Given the description of an element on the screen output the (x, y) to click on. 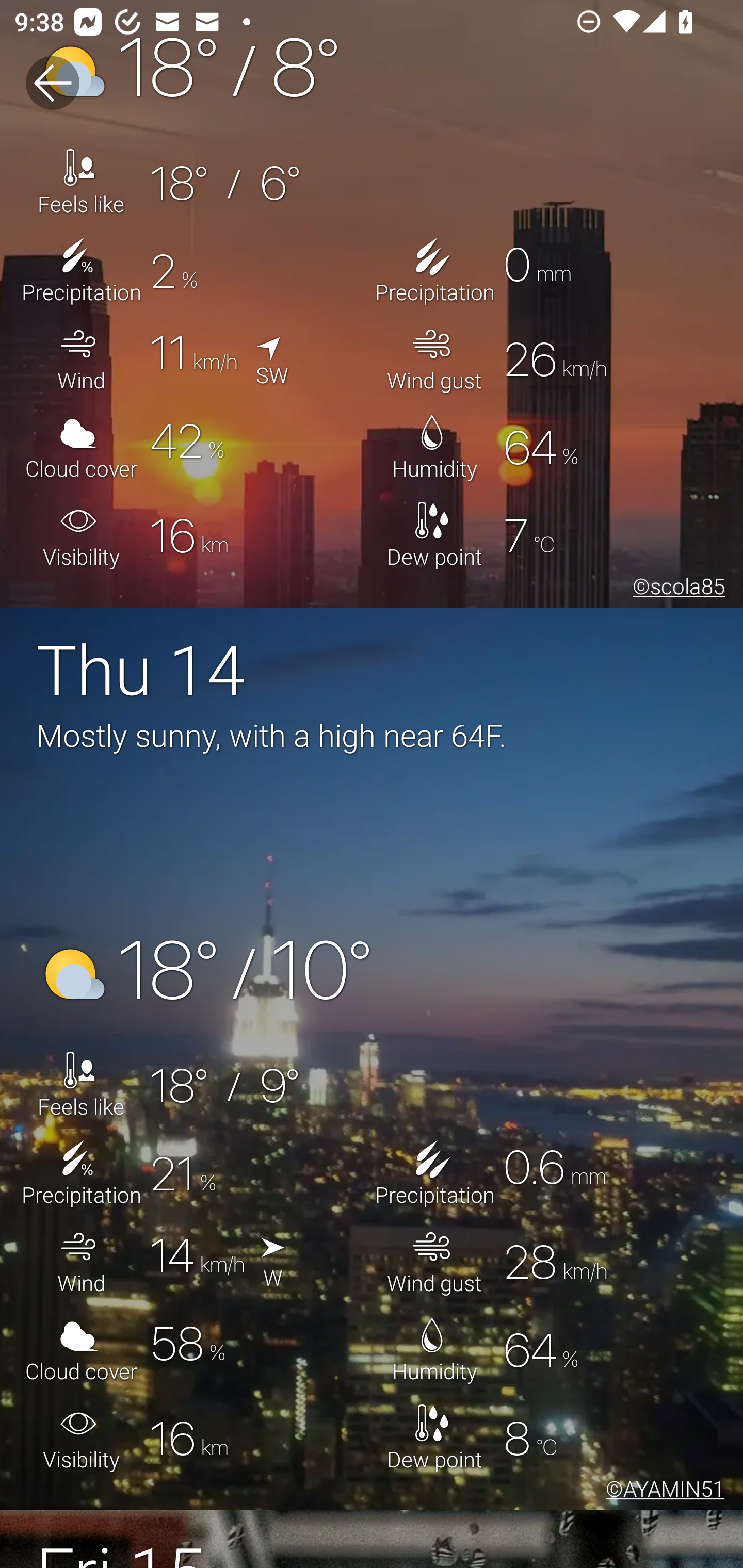
©scola85 (675, 589)
©AYAMIN51 (661, 1491)
